Given the description of an element on the screen output the (x, y) to click on. 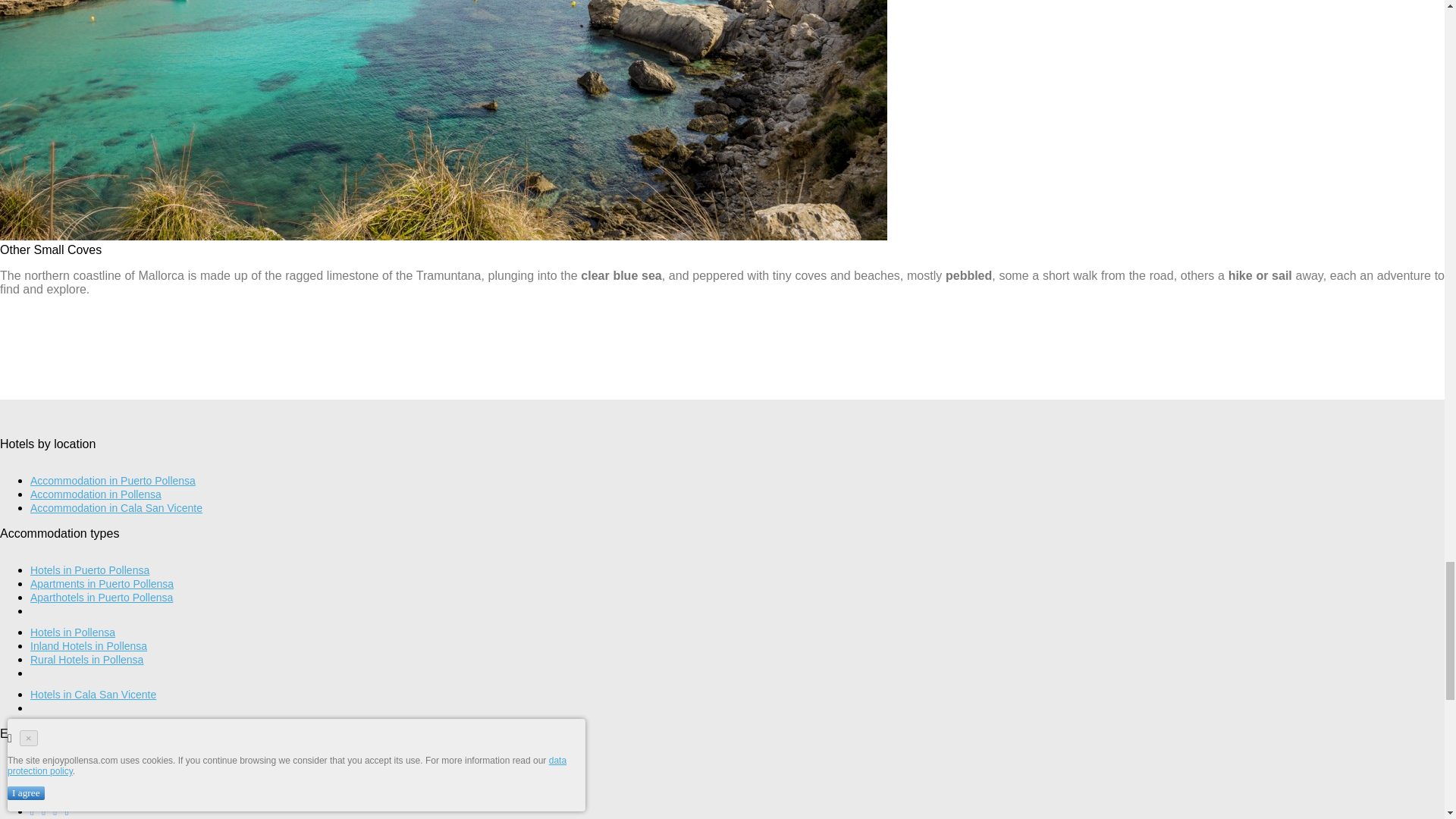
Privacy policy (63, 770)
Hotels in Puerto Pollensa (89, 570)
Hotels in Pollensa (72, 632)
Accommodation in Puerto Pollensa (112, 480)
Inland Hotels in Pollensa (88, 645)
Accommodation in Pollensa (95, 494)
Contact us (55, 797)
Apartments in Puerto Pollensa (101, 583)
Aparthotels in Puerto Pollensa (101, 597)
Rural Hotels in Pollensa (86, 659)
Hotels in Cala San Vicente (92, 694)
Legal notice (58, 784)
Accommodation in Cala San Vicente (116, 508)
